Given the description of an element on the screen output the (x, y) to click on. 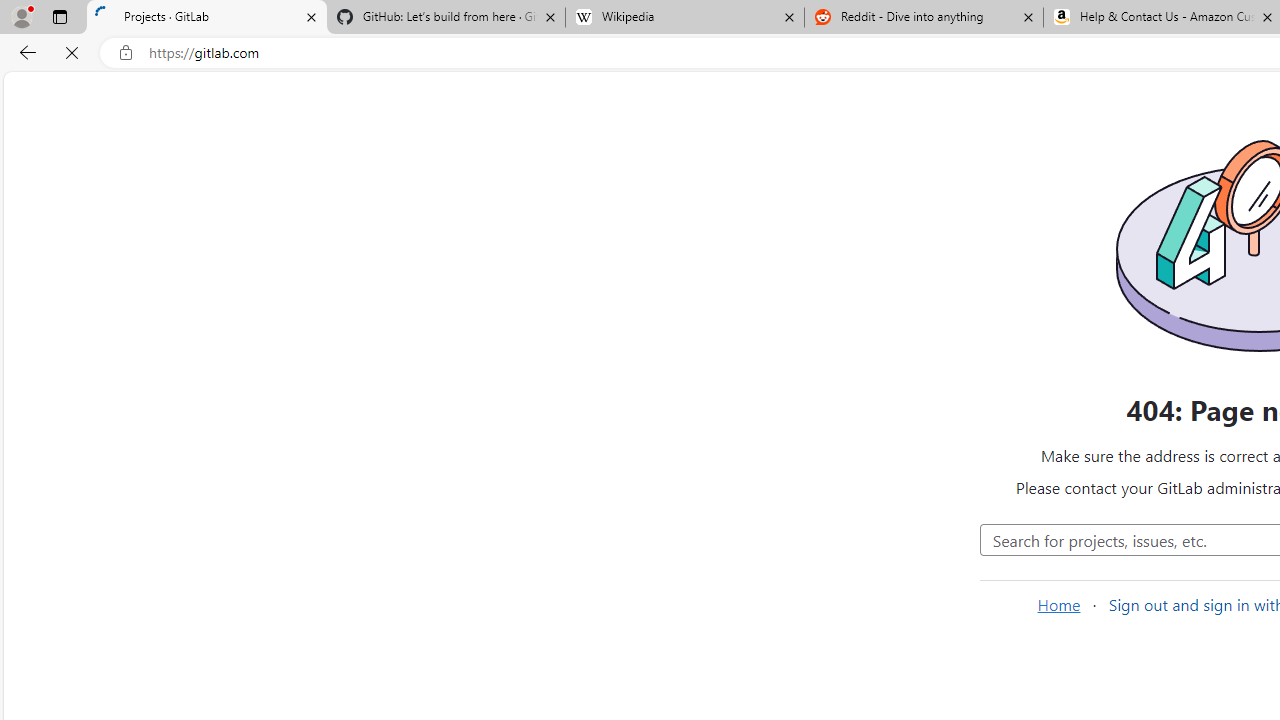
Start your free trial (912, 254)
Environments (130, 564)
Personal (988, 389)
Pending deletion (1172, 389)
Yours 1 (808, 389)
Activity (130, 497)
To-Do List (130, 394)
Merge requests (130, 358)
Snippets (130, 463)
Projects (384, 95)
Issues (130, 325)
Wikipedia (684, 17)
